Given the description of an element on the screen output the (x, y) to click on. 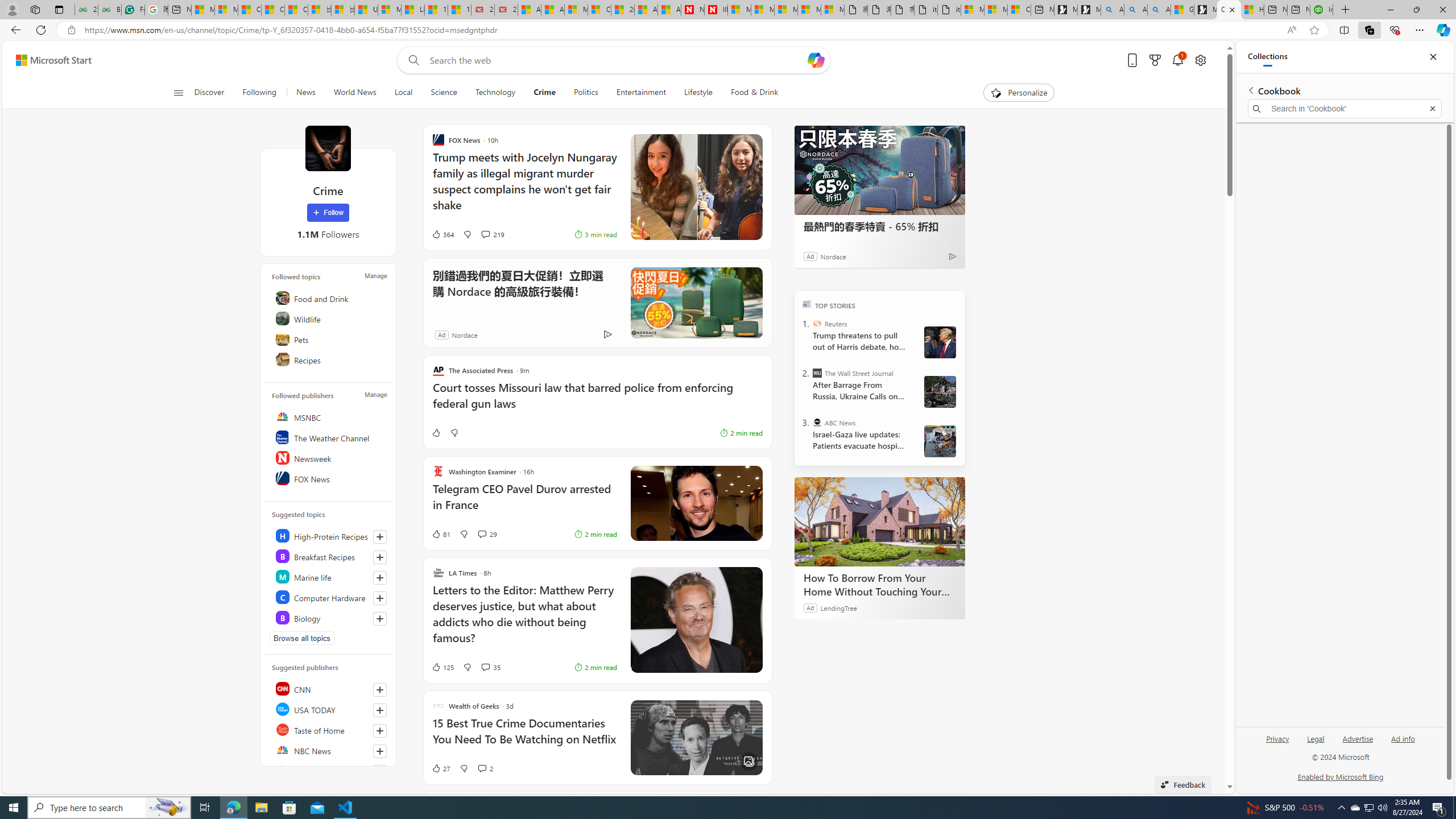
Wildlife (328, 318)
Consumer Health Data Privacy Policy (1019, 9)
81 Like (440, 533)
Recipes (328, 359)
